Given the description of an element on the screen output the (x, y) to click on. 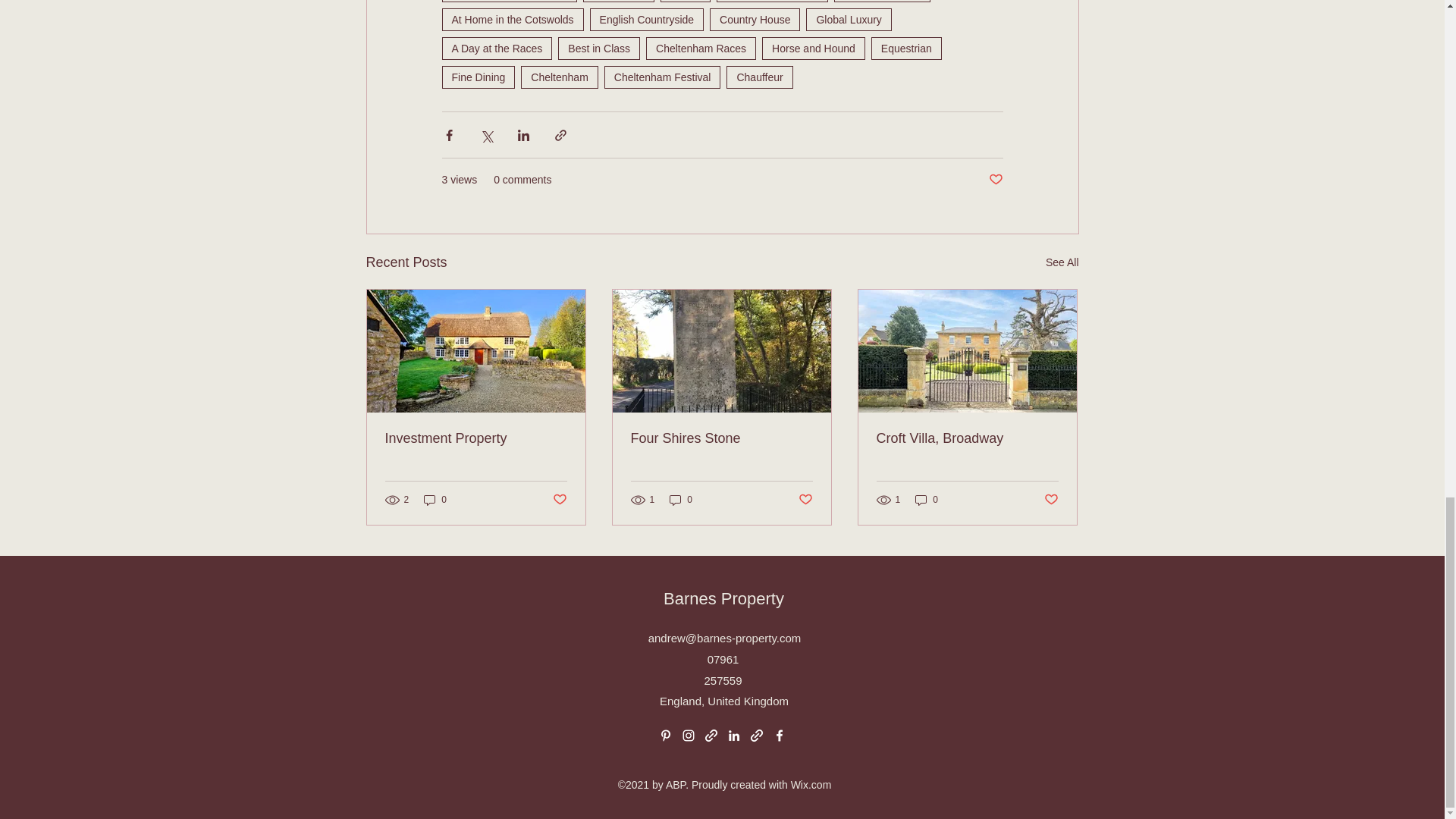
Concierge Property (772, 1)
Barnes Property (882, 1)
English Countryside (646, 19)
AONB (685, 1)
At Home in the Cotswolds (512, 19)
Country House (754, 19)
Village Life (618, 1)
Find Your Forever Home (508, 1)
